Given the description of an element on the screen output the (x, y) to click on. 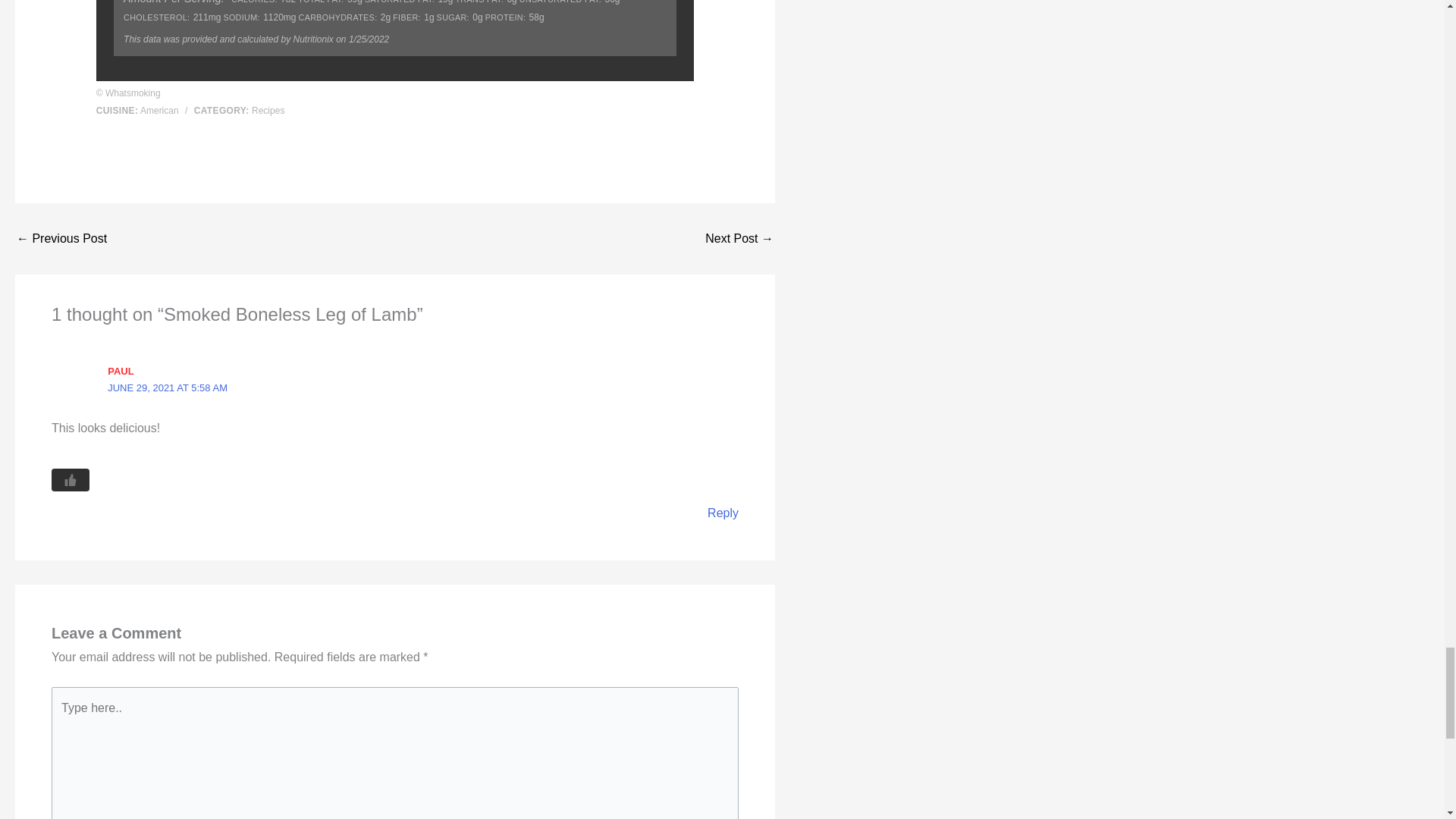
Crispy Smoked Wings Recipe (738, 238)
Smoked Meat Loaf (61, 238)
